Given the description of an element on the screen output the (x, y) to click on. 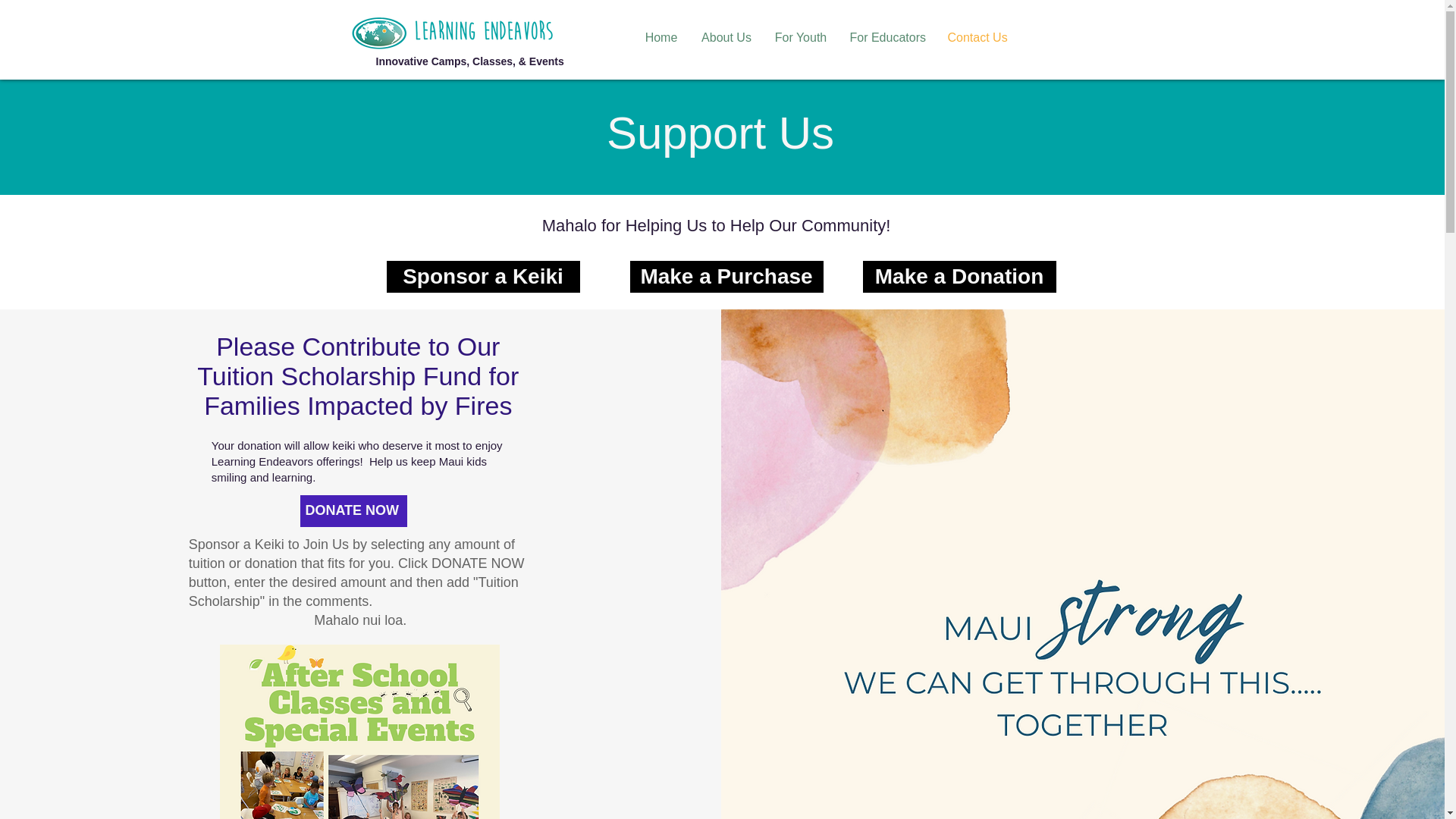
Home (659, 37)
classes and scholarships.png (359, 731)
Make a Donation (960, 276)
About Us (726, 37)
For Youth (800, 37)
DONATE NOW (353, 511)
Make a Purchase (725, 276)
LE logo PNG.png (378, 32)
Contact Us (976, 37)
For Educators (887, 37)
LE logo PNG.png (483, 28)
Sponsor a Keiki (483, 276)
